Given the description of an element on the screen output the (x, y) to click on. 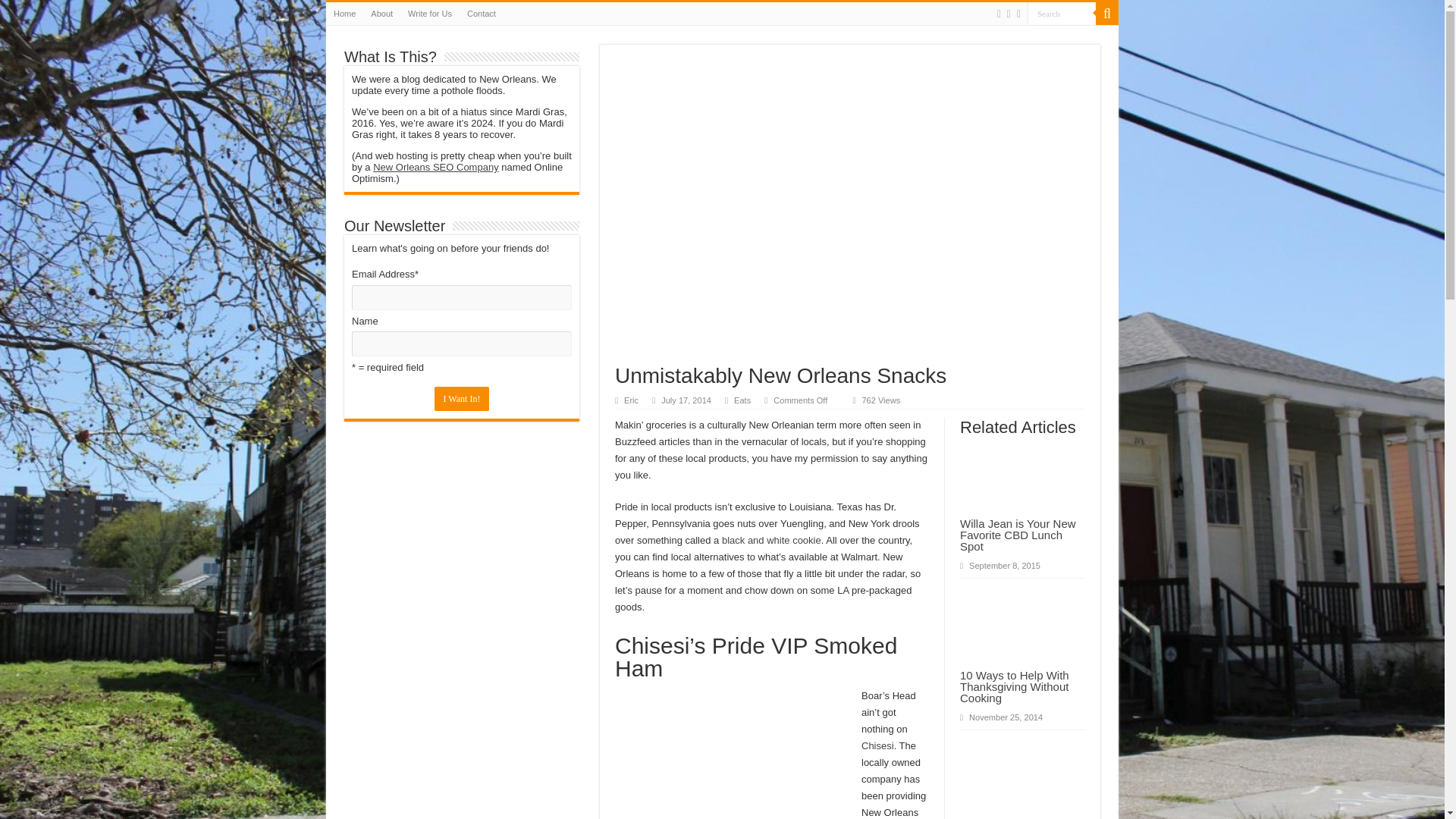
Contact (481, 13)
Search (1061, 13)
Write for Us (430, 13)
Eric (631, 399)
Search (1061, 13)
Home (344, 13)
Willa Jean is Your New Favorite CBD Lunch Spot (1017, 534)
Eats (742, 399)
black and white cookie (771, 540)
10 Ways to Help With Thanksgiving Without Cooking (1013, 686)
Search (1061, 13)
Search (1107, 13)
About (381, 13)
I Want In! (461, 398)
Chisesi (877, 745)
